Given the description of an element on the screen output the (x, y) to click on. 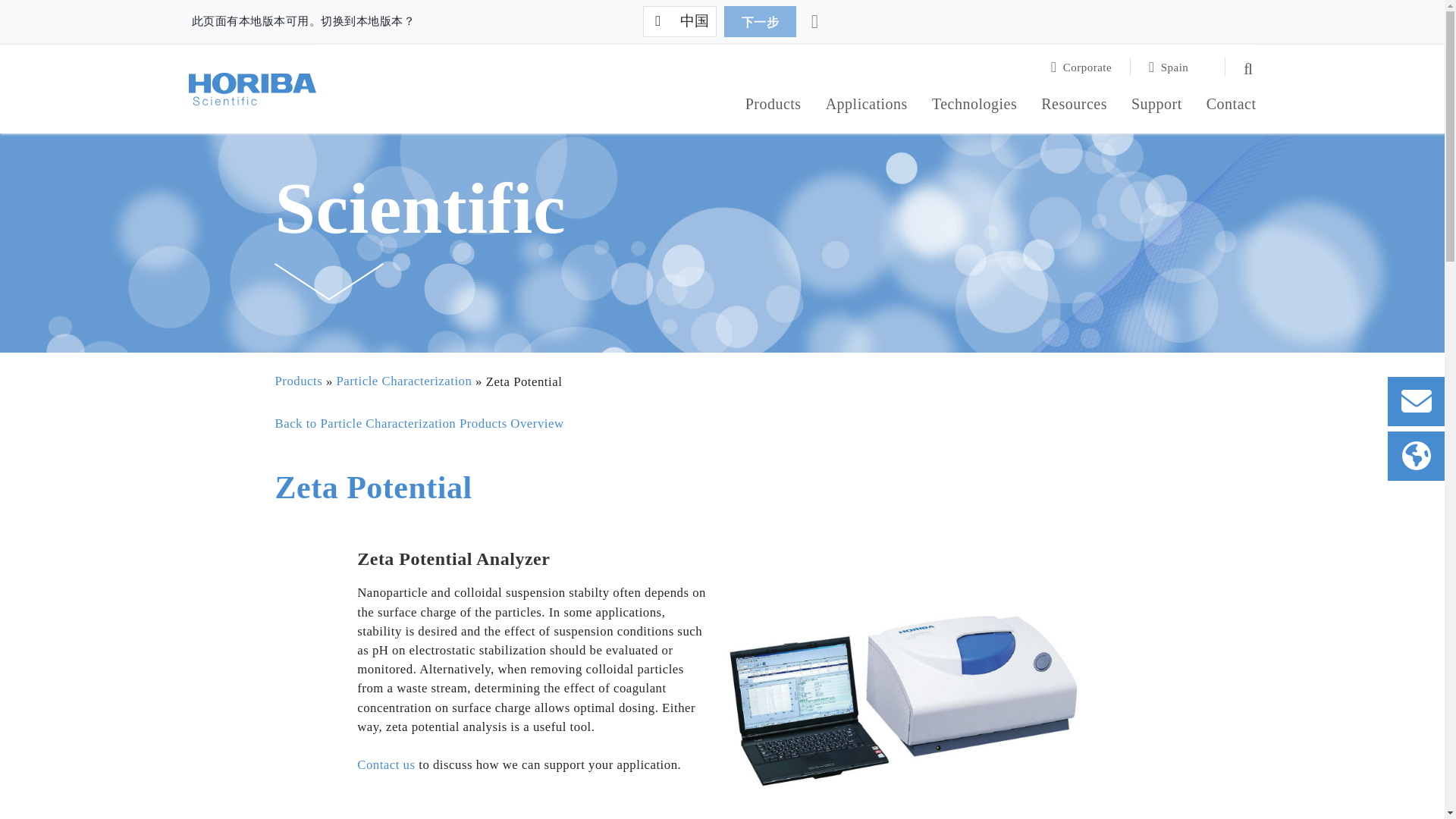
Products (773, 106)
Contact (1231, 106)
Products (773, 106)
Corporate (1091, 66)
Technologies (973, 106)
Spain (1178, 66)
Resources (1073, 106)
Applications (866, 106)
Support (1156, 106)
